Given the description of an element on the screen output the (x, y) to click on. 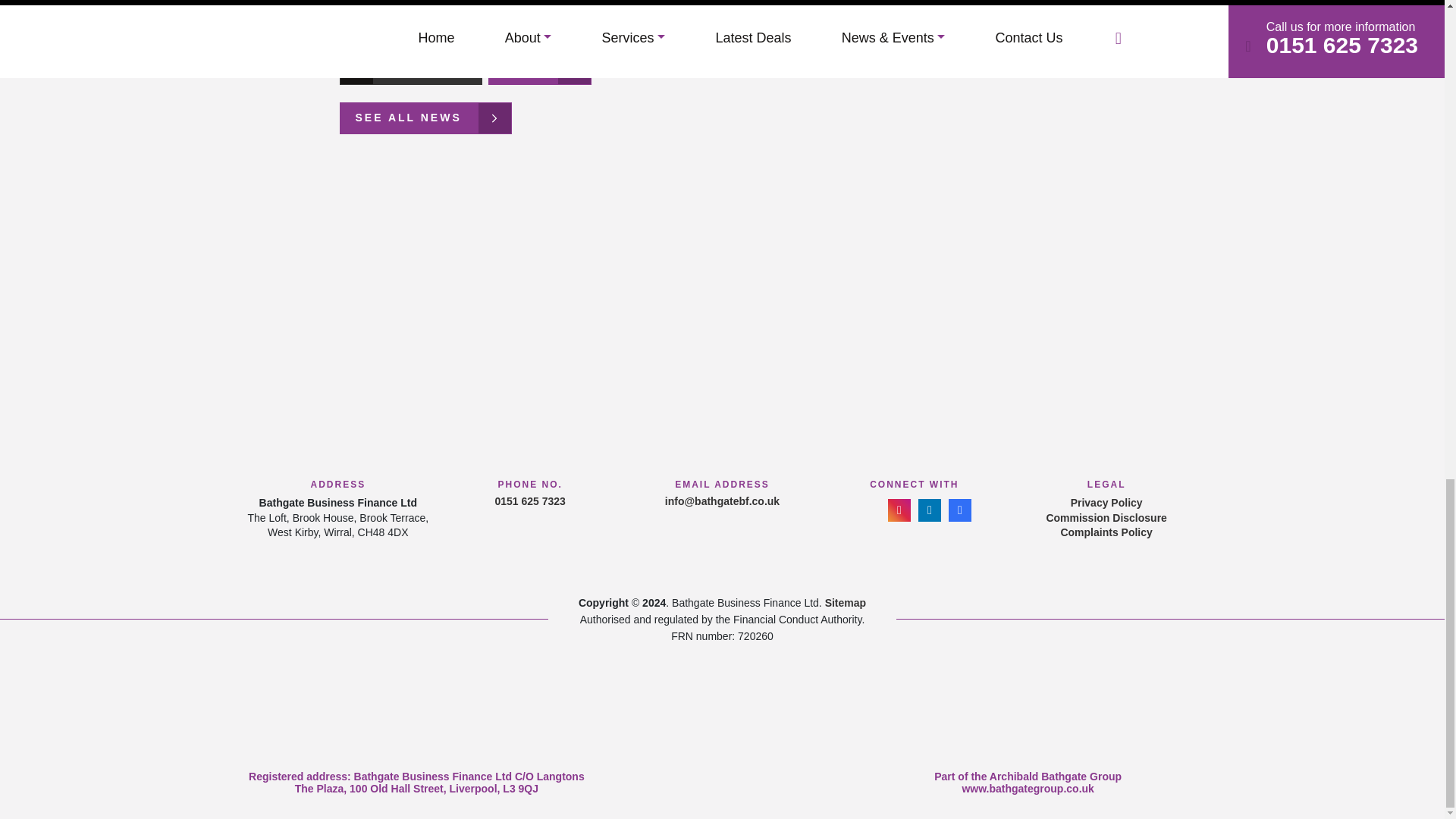
PREVIOUS (410, 69)
0151 625 7323 (529, 500)
SEE ALL NEWS (425, 118)
Privacy Policy (1106, 503)
Complaints Policy (1106, 532)
Commission Disclosure (1106, 518)
NEXT (539, 69)
www.bathgategroup.co.uk (1027, 788)
Sitemap (845, 603)
